Given the description of an element on the screen output the (x, y) to click on. 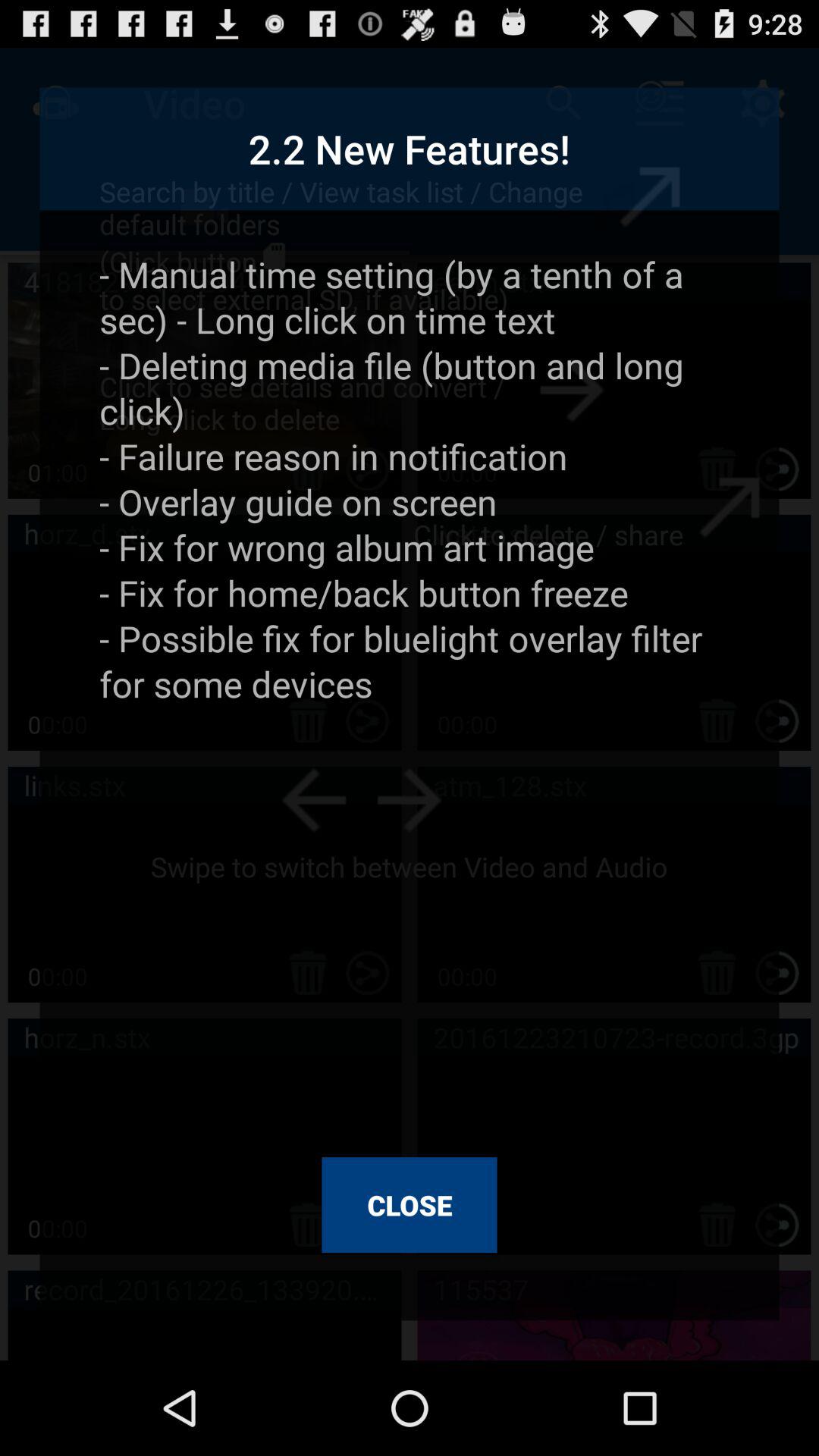
scroll to manual time setting (409, 693)
